Given the description of an element on the screen output the (x, y) to click on. 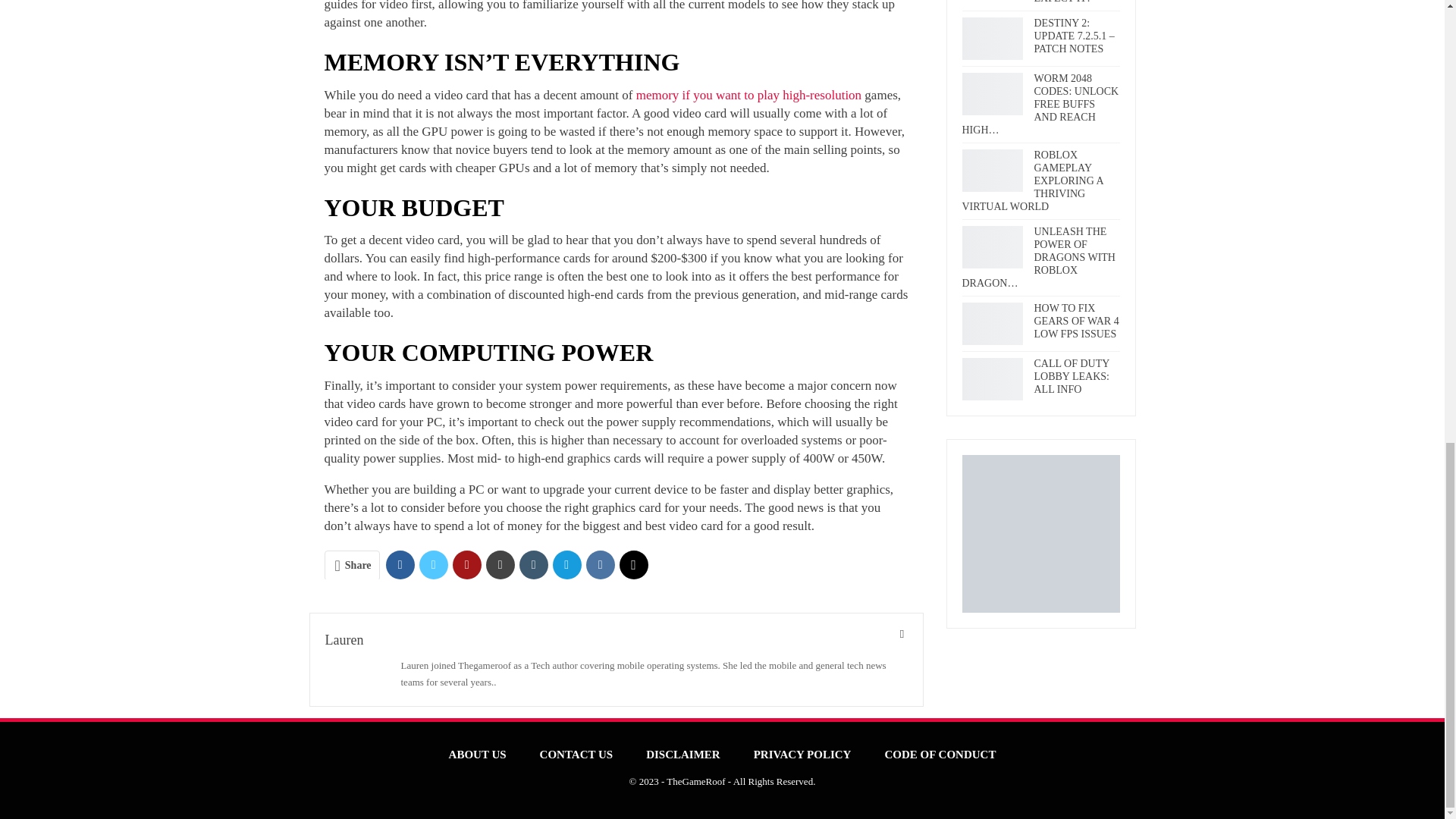
memory if you want to play high-resolution (748, 94)
Lauren (343, 639)
Worm 2048 Codes: Unlock Free Buffs and Reach High Scores! (991, 93)
How to Fix Gears of War 4 Low FPS Issues (991, 323)
Roblox Gameplay Exploring a Thriving Virtual World (991, 170)
Call of Duty Lobby Leaks: All Info (991, 378)
